Given the description of an element on the screen output the (x, y) to click on. 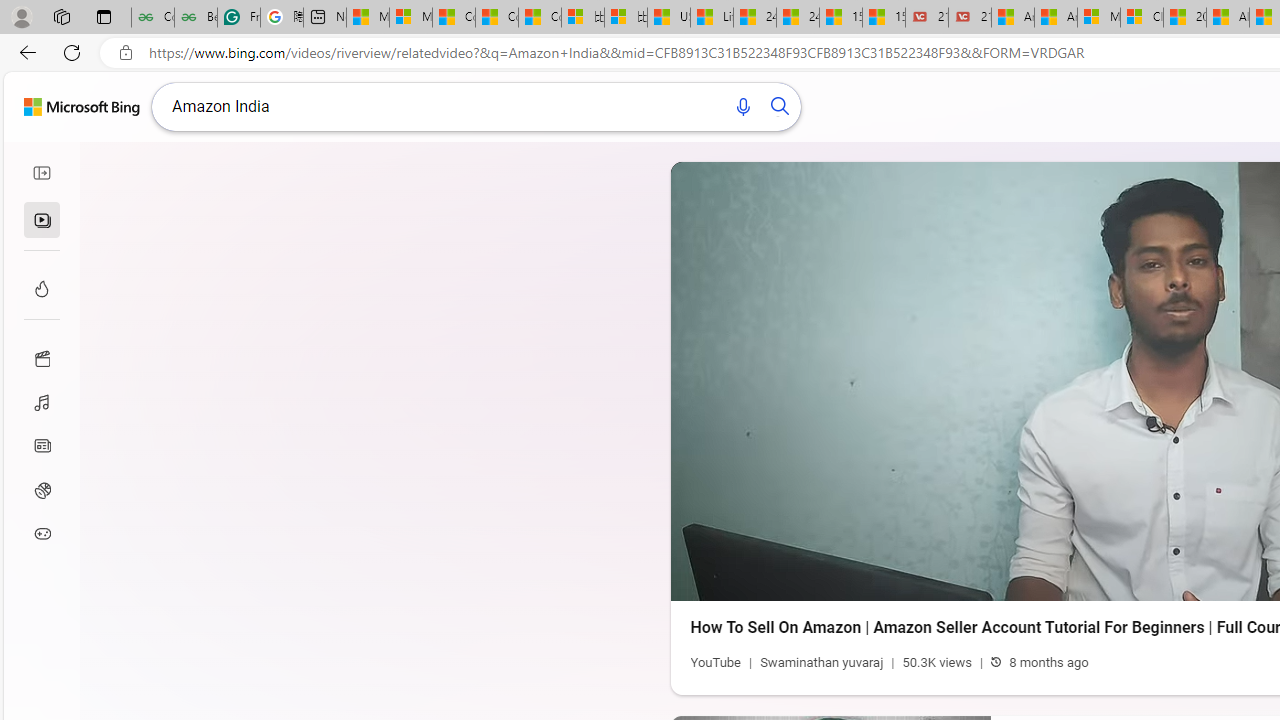
Related videos (42, 220)
Trending (42, 288)
Search button (781, 106)
15 Ways Modern Life Contradicts the Teachings of Jesus (883, 17)
Lifestyle - MSN (712, 17)
Gaming (42, 534)
Movie (42, 357)
Best SSL Certificates Provider in India - GeeksforGeeks (196, 17)
